Given the description of an element on the screen output the (x, y) to click on. 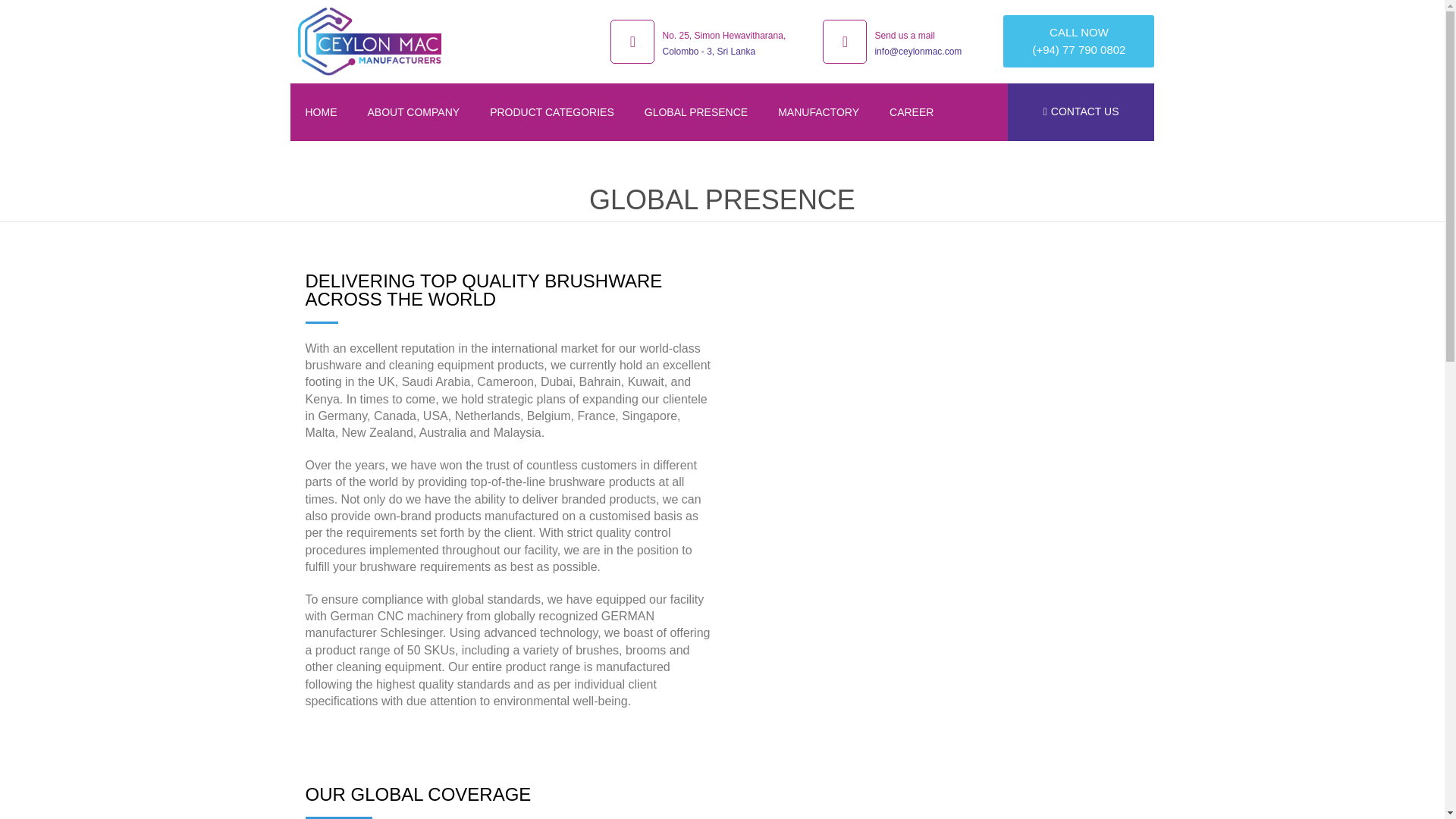
MANUFACTORY (818, 112)
Send us a mail (904, 35)
CONTACT US (1081, 111)
ABOUT COMPANY (413, 112)
HOME (320, 112)
GLOBAL PRESENCE (695, 112)
CAREER (912, 112)
PRODUCT CATEGORIES (551, 112)
